Given the description of an element on the screen output the (x, y) to click on. 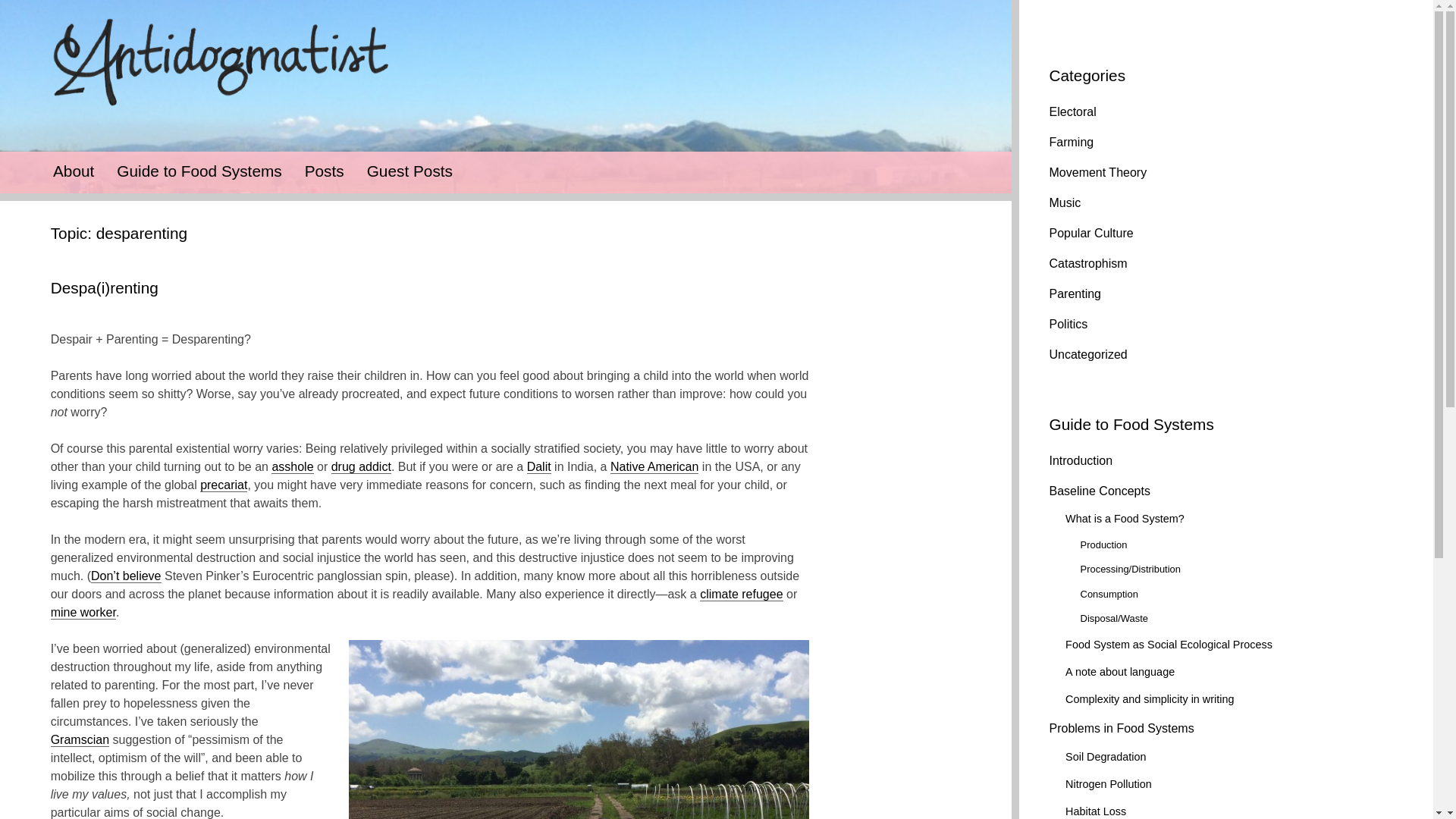
Music (1065, 202)
Problems in Food Systems (1121, 727)
Parenting (1075, 293)
drug addict (361, 467)
What is a Food System? (1125, 518)
Guide to Food Systems (198, 170)
Popular Culture (1091, 232)
A note about language (1119, 671)
Guest Posts (409, 170)
asshole (291, 467)
Food System as Social Ecological Process (1168, 644)
About (73, 170)
mine worker (83, 612)
Complexity and simplicity in writing (1149, 698)
Uncategorized (1087, 354)
